Given the description of an element on the screen output the (x, y) to click on. 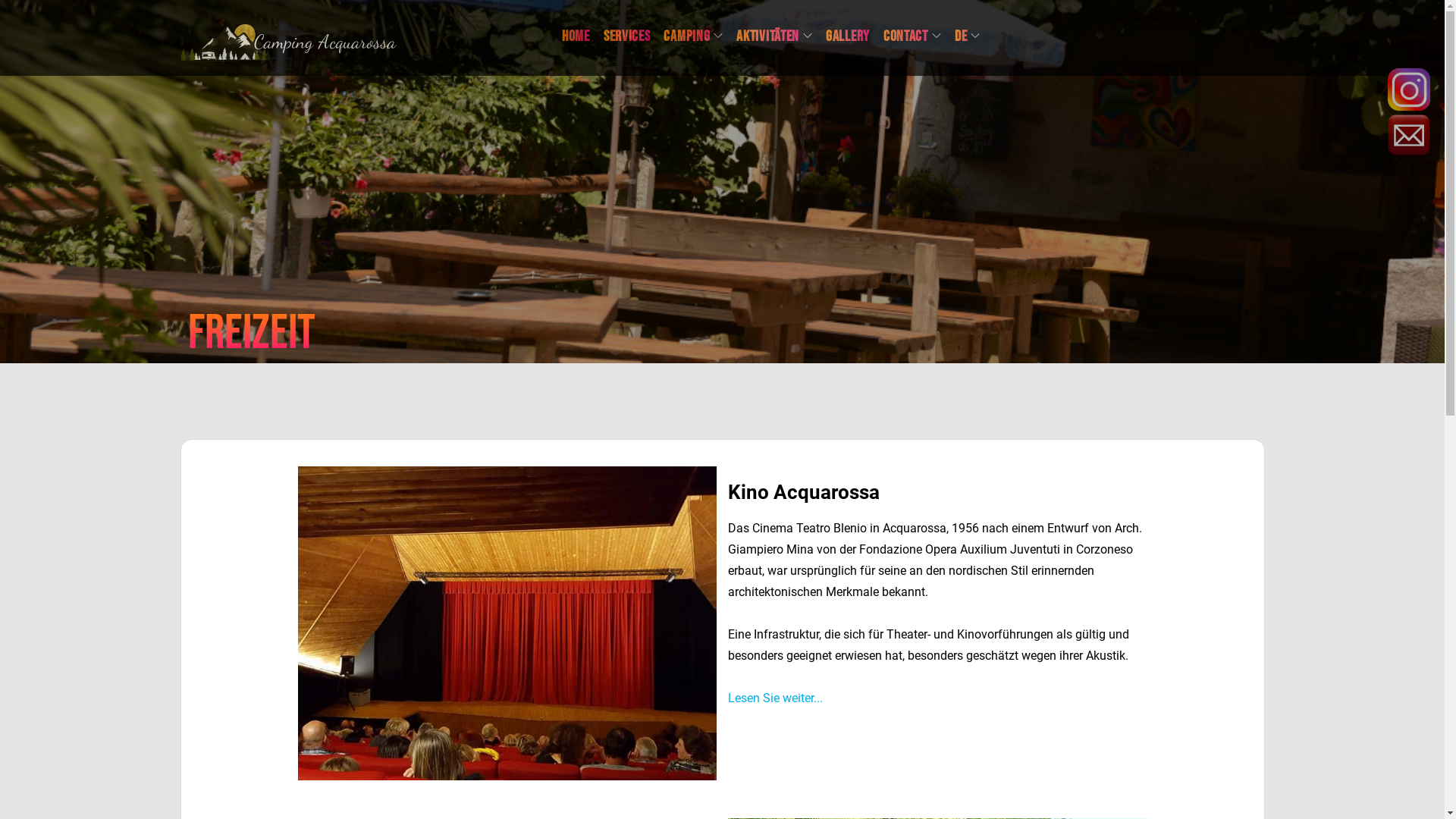
Lesen Sie weiter... Element type: text (775, 697)
SERVICES Element type: text (626, 36)
Camping Acquarossa Element type: text (324, 41)
HOME Element type: text (575, 36)
DE Element type: text (966, 36)
CONTACT Element type: text (912, 36)
CAMPING Element type: text (692, 36)
Gallery Element type: text (847, 36)
